Given the description of an element on the screen output the (x, y) to click on. 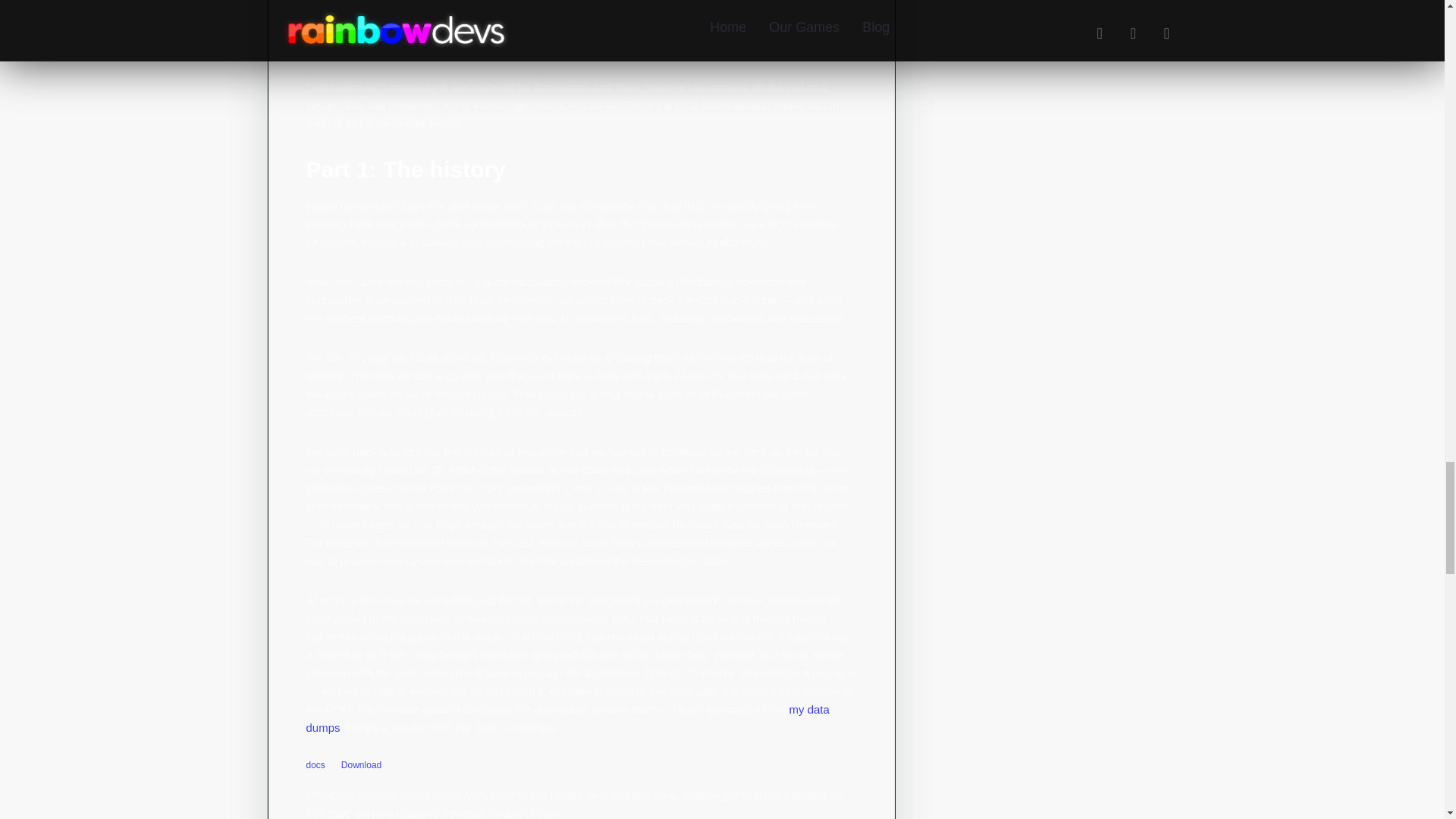
Download (360, 764)
docs (314, 765)
my data dumps (567, 717)
